Given the description of an element on the screen output the (x, y) to click on. 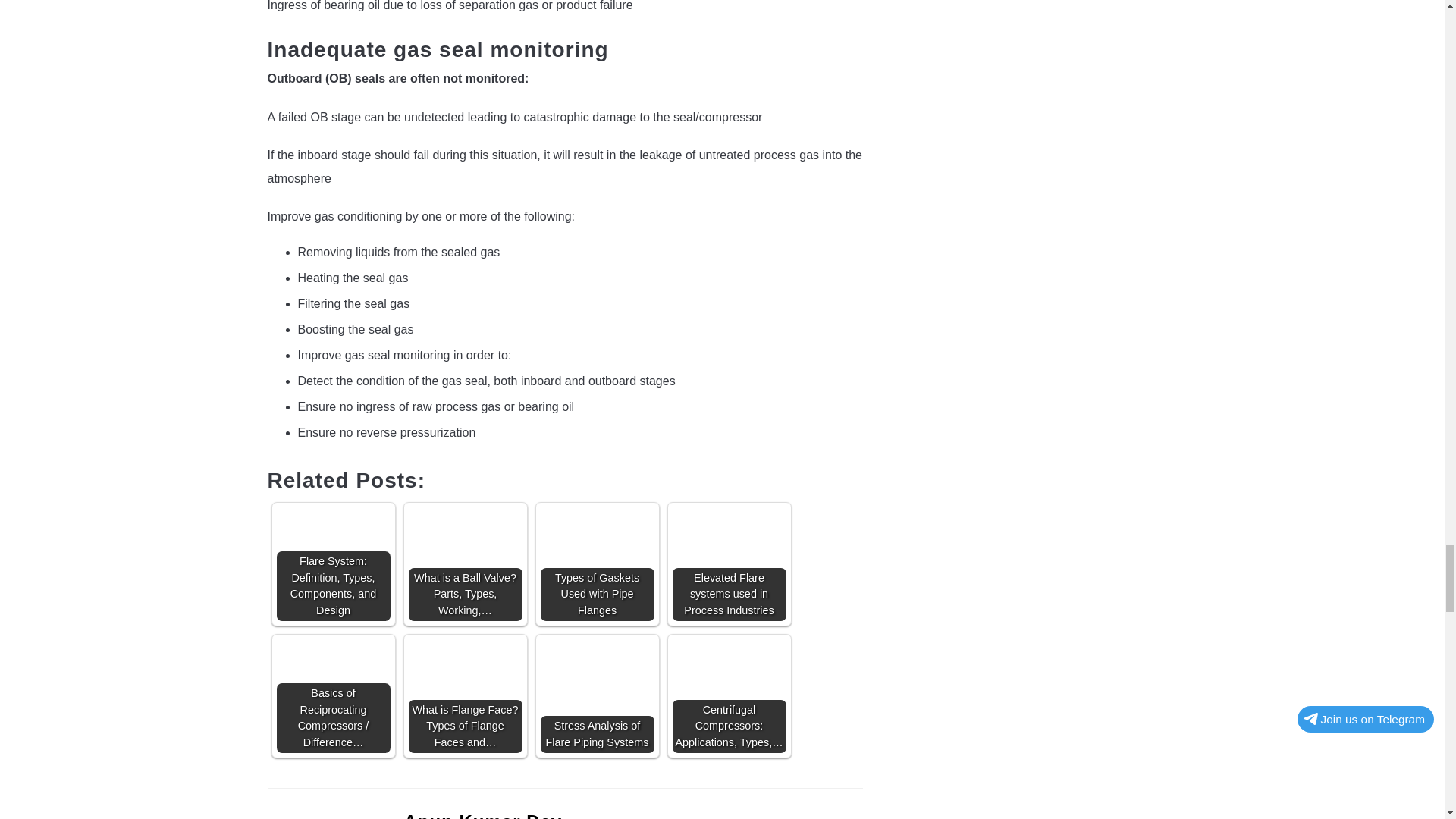
Elevated Flare systems used in Process Industries (728, 551)
Stress Analysis of Flare Piping Systems (596, 670)
Types of Gaskets Used with Pipe Flanges (596, 563)
Flare System: Definition, Types, Components, and Design (333, 563)
Flare System: Definition, Types, Components, and Design (333, 538)
